Given the description of an element on the screen output the (x, y) to click on. 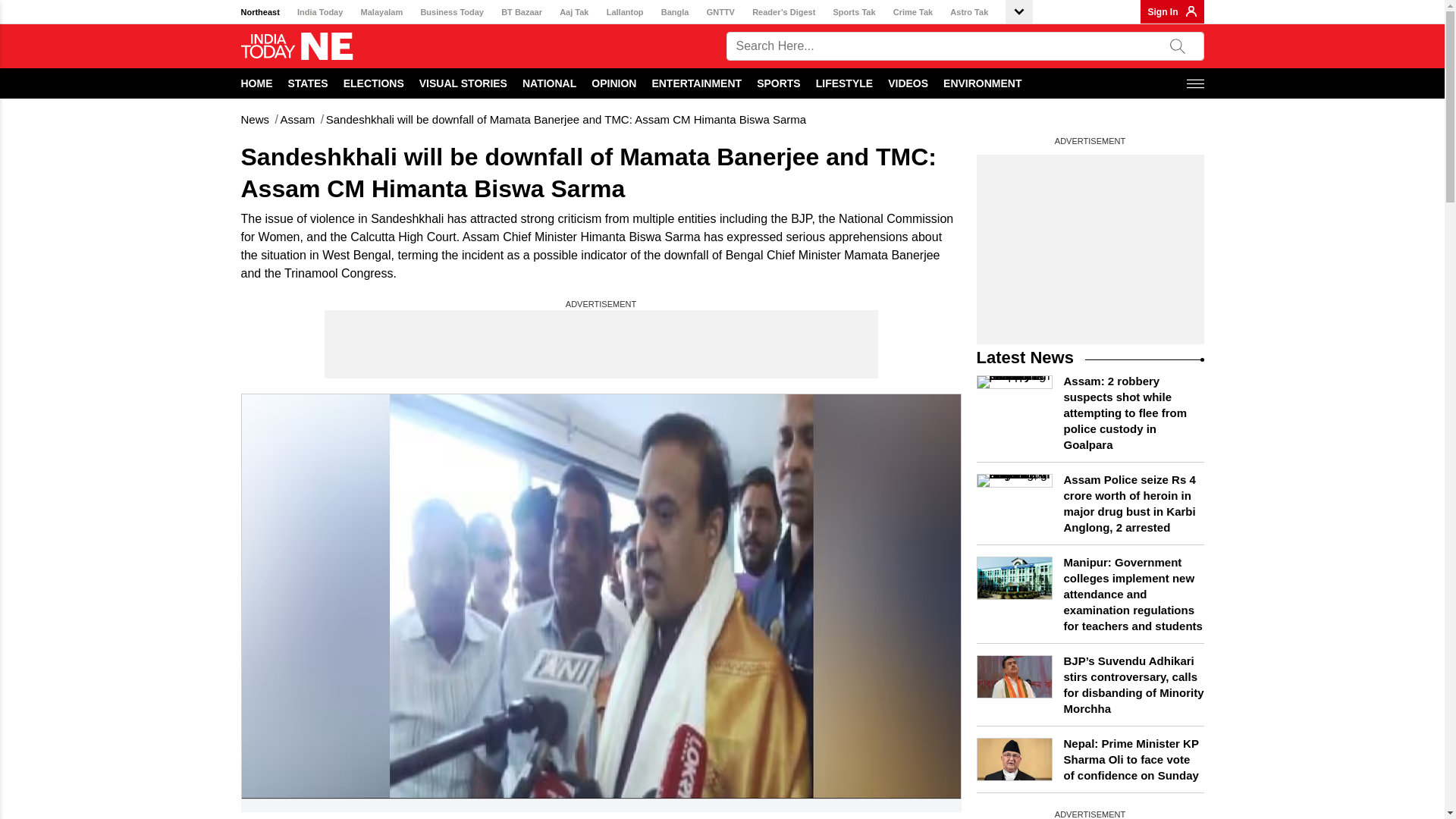
Lallantop (625, 12)
India Today (319, 12)
Lallantop (625, 12)
VISUAL STORIES (462, 82)
GNTTV (720, 12)
India Today (319, 12)
Aaj Tak (573, 12)
NATIONAL (549, 82)
Crime Tak (913, 12)
Bangla (674, 12)
BT Bazaar (520, 12)
Astro Tak (969, 12)
ELECTIONS (373, 82)
Astro Tak (969, 12)
HOME (257, 82)
